Given the description of an element on the screen output the (x, y) to click on. 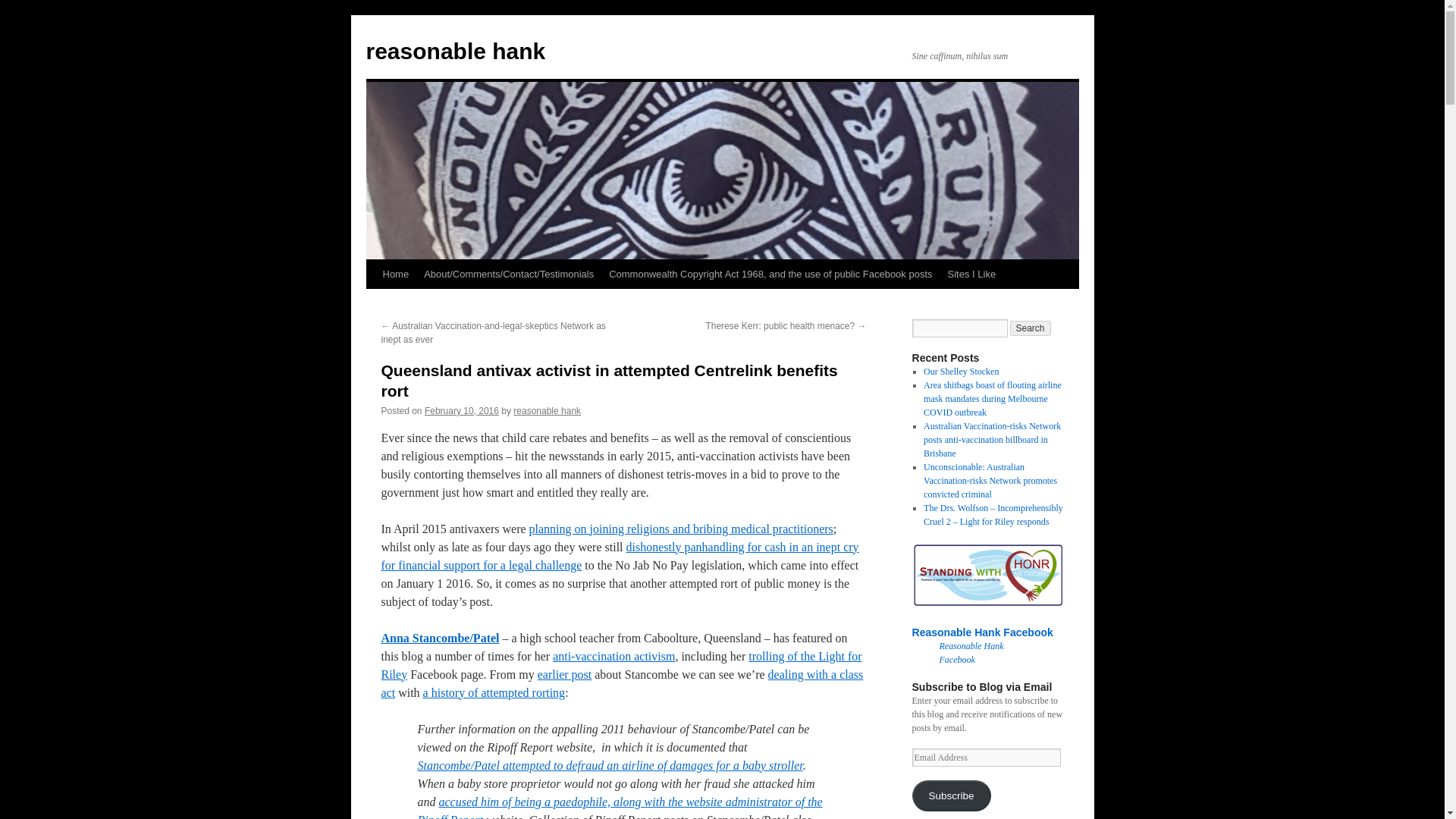
Search (1030, 328)
reasonable hank (454, 50)
View all posts by reasonable hank (546, 410)
reasonable hank (546, 410)
Sites I Like (972, 274)
7:04 am (462, 410)
a history of attempted rorting (494, 692)
earlier post (564, 674)
Home (395, 274)
anti-vaccination activism (614, 656)
trolling of the Light for Riley (620, 665)
reasonable hank (454, 50)
